Given the description of an element on the screen output the (x, y) to click on. 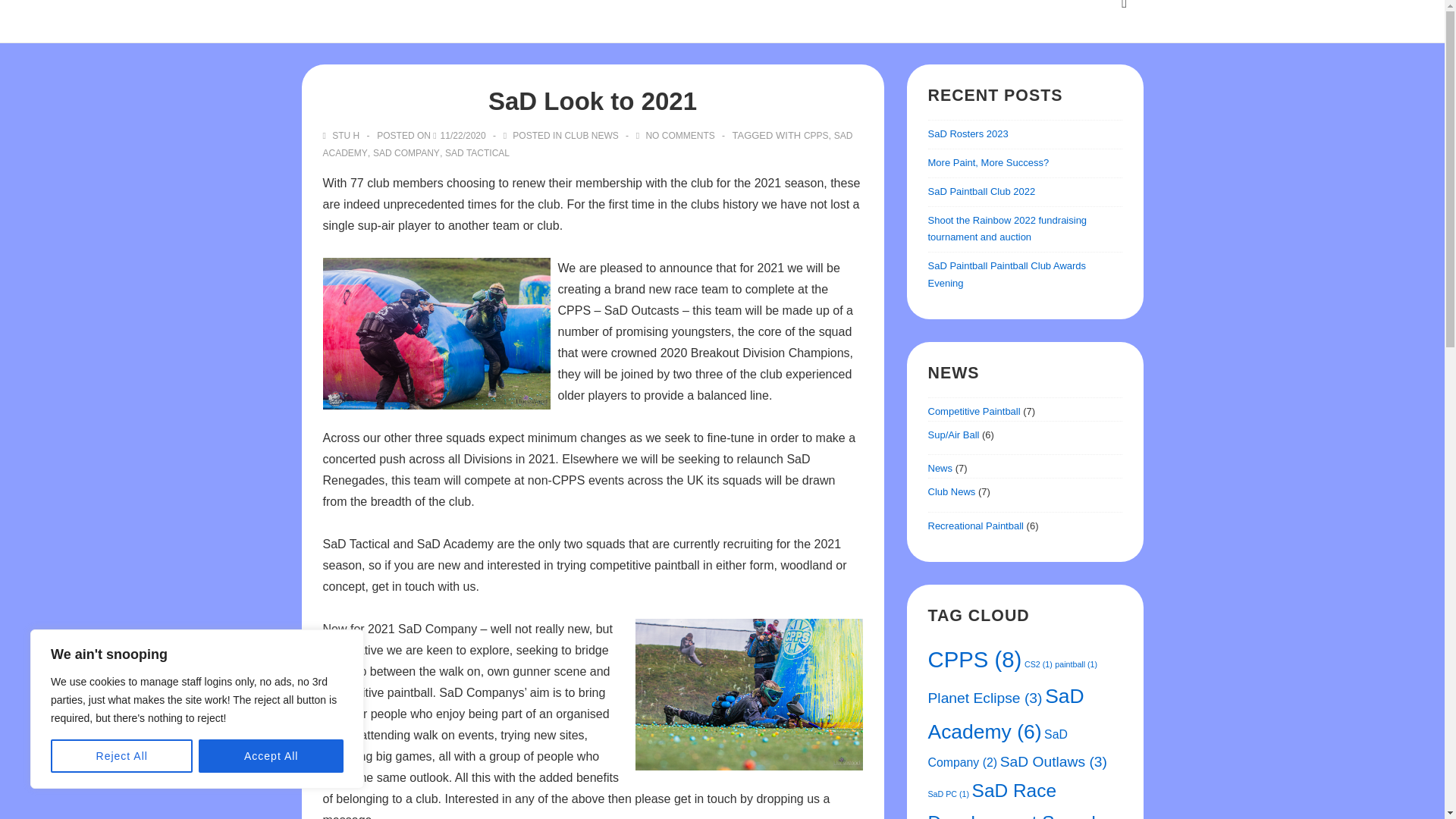
SAD COMPANY (405, 153)
STU H (342, 135)
More Paint, More Success? (988, 162)
Shoot the Rainbow 2022 fundraising tournament and auction (1007, 228)
Accept All (270, 756)
CPPS (815, 135)
SaD Paintball Paintball Club Awards Evening (1007, 274)
NO COMMENTS (679, 135)
SaD Look to 2021 (463, 135)
SaD Paintball Club 2022 (981, 191)
SaD Rosters 2023 (968, 133)
Reject All (121, 756)
SAD ACADEMY (588, 144)
View all posts by Stu H (342, 135)
SAD TACTICAL (477, 153)
